Given the description of an element on the screen output the (x, y) to click on. 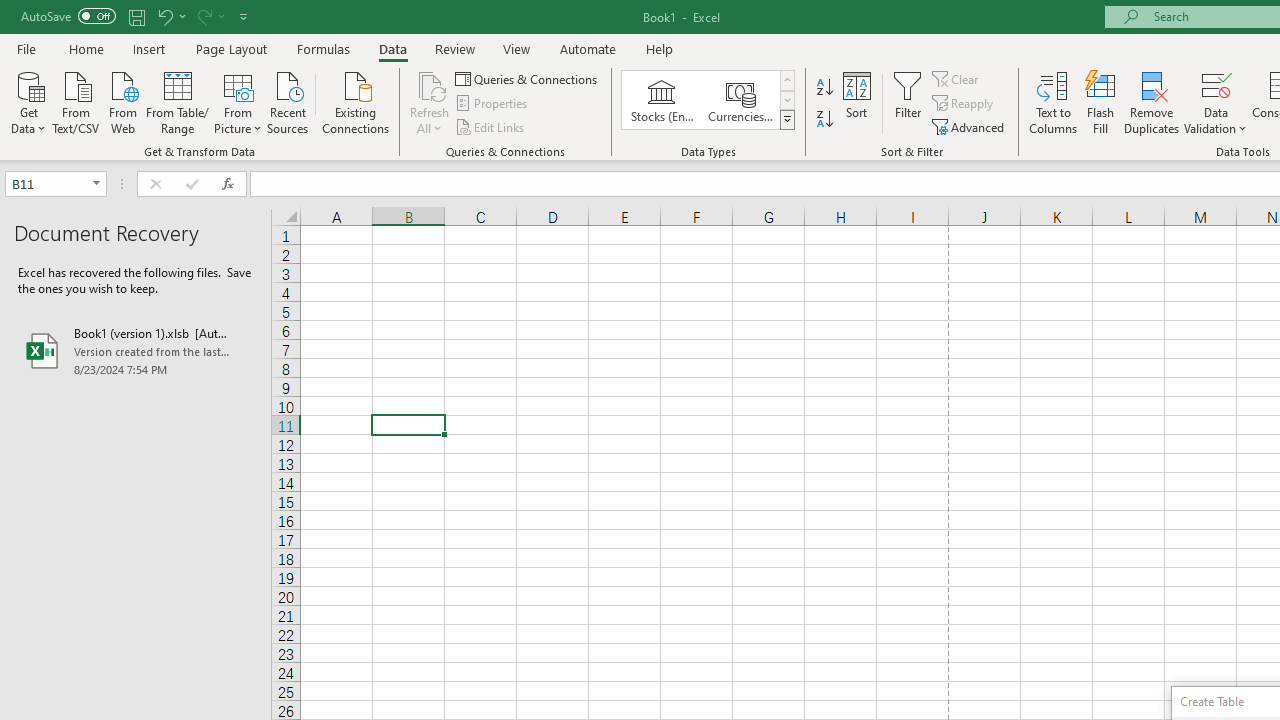
Edit Links (491, 126)
Sort A to Z (824, 87)
Stocks (English) (662, 100)
Text to Columns... (1053, 102)
Remove Duplicates (1151, 102)
Existing Connections (355, 101)
Flash Fill (1101, 102)
Recent Sources (287, 101)
Sort Z to A (824, 119)
